Given the description of an element on the screen output the (x, y) to click on. 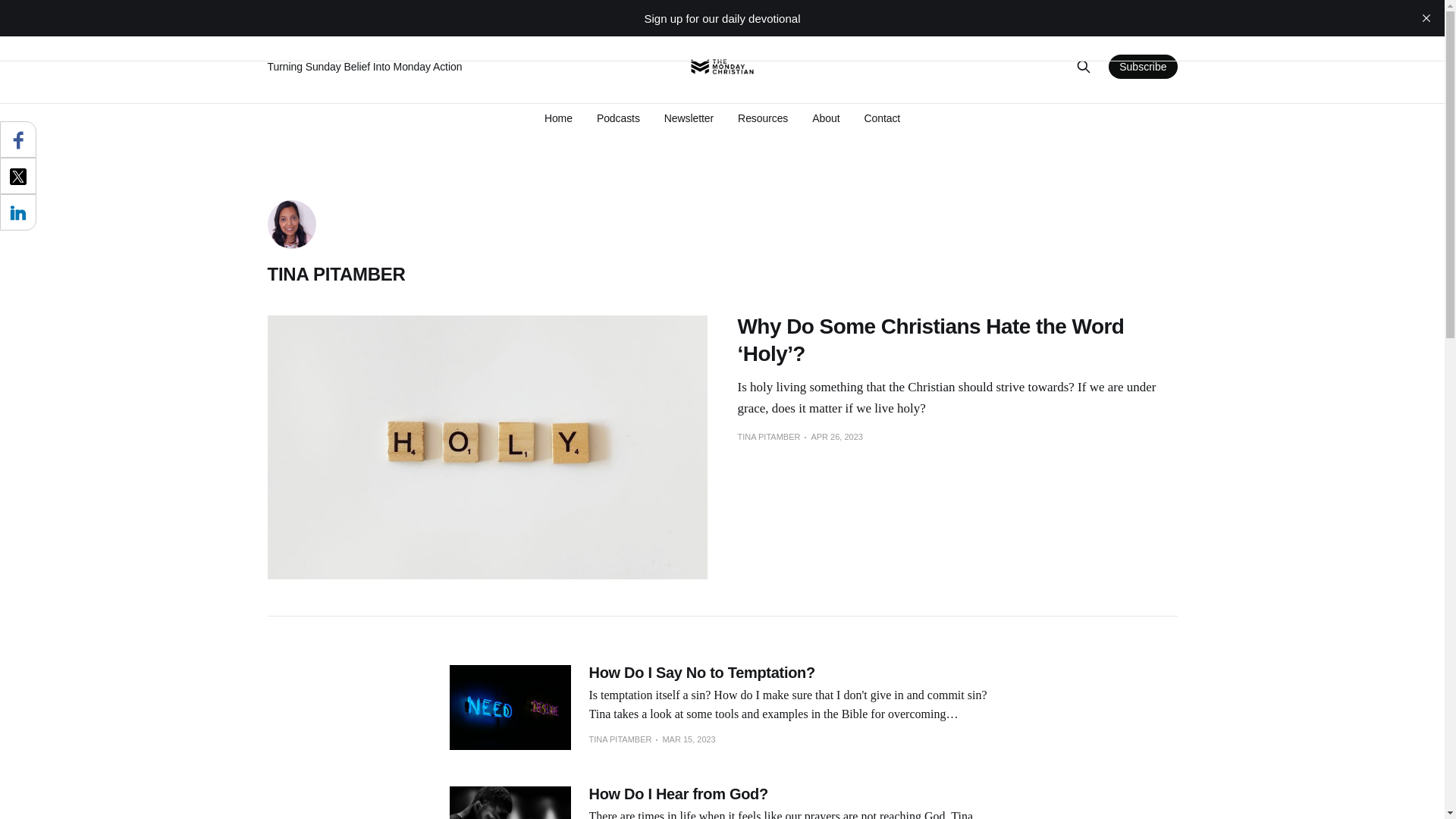
Home (558, 118)
Newsletter (688, 118)
Podcasts (618, 118)
About (826, 118)
Subscribe (1142, 66)
Turning Sunday Belief Into Monday Action (464, 66)
Contact (881, 118)
Resources (762, 118)
